Given the description of an element on the screen output the (x, y) to click on. 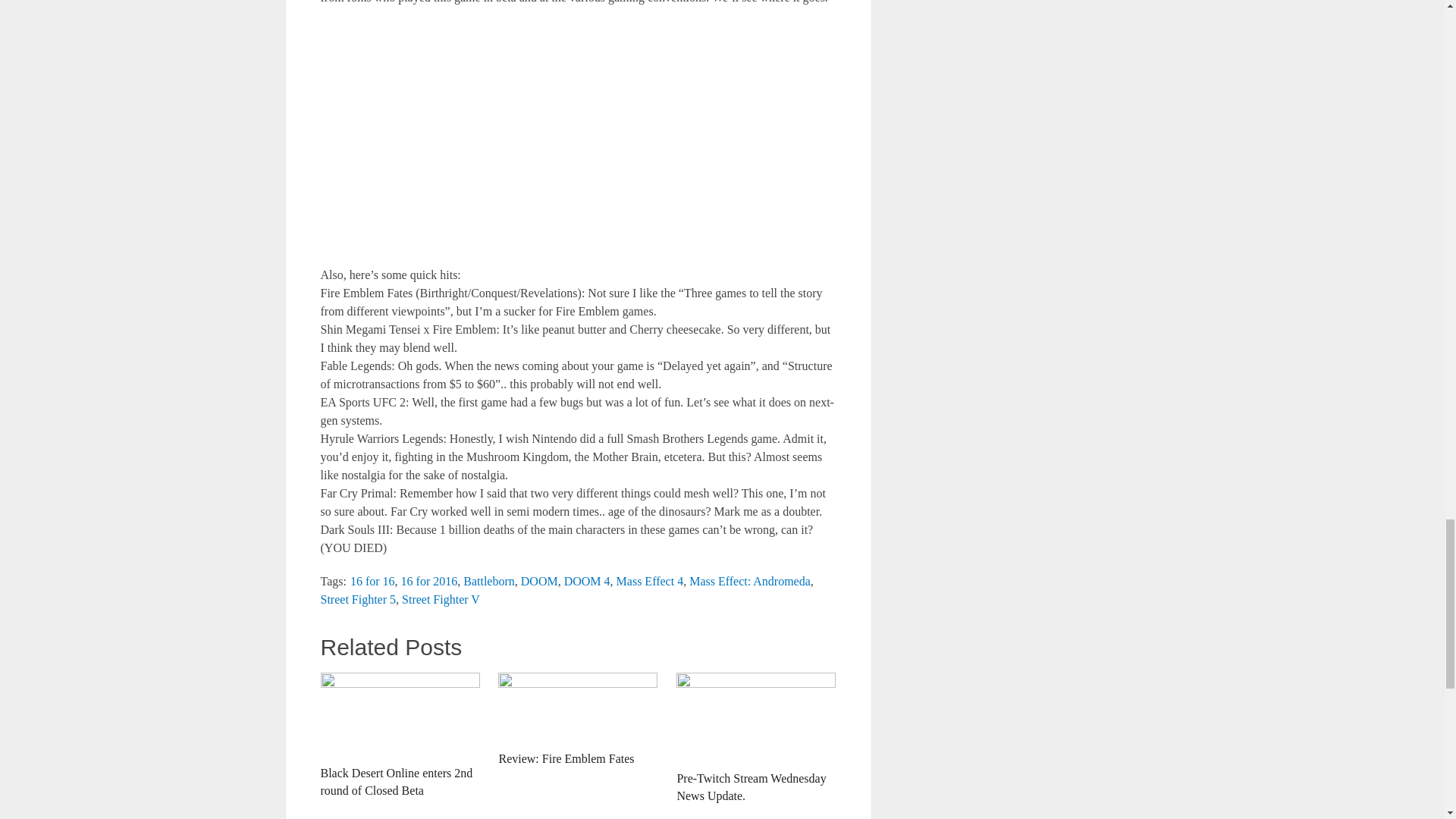
Battleborn (489, 581)
16 for 16 (372, 581)
Street Fighter V (440, 599)
Review: Fire Emblem Fates (577, 719)
Pre-Twitch Stream Wednesday News Update. (756, 738)
Mass Effect: Andromeda (749, 581)
Black Desert Online enters 2nd round of Closed Beta (399, 735)
Pre-Twitch Stream Wednesday News Update. (756, 738)
16 for 2016 (429, 581)
Black Desert Online enters 2nd round of Closed Beta (399, 735)
